Given the description of an element on the screen output the (x, y) to click on. 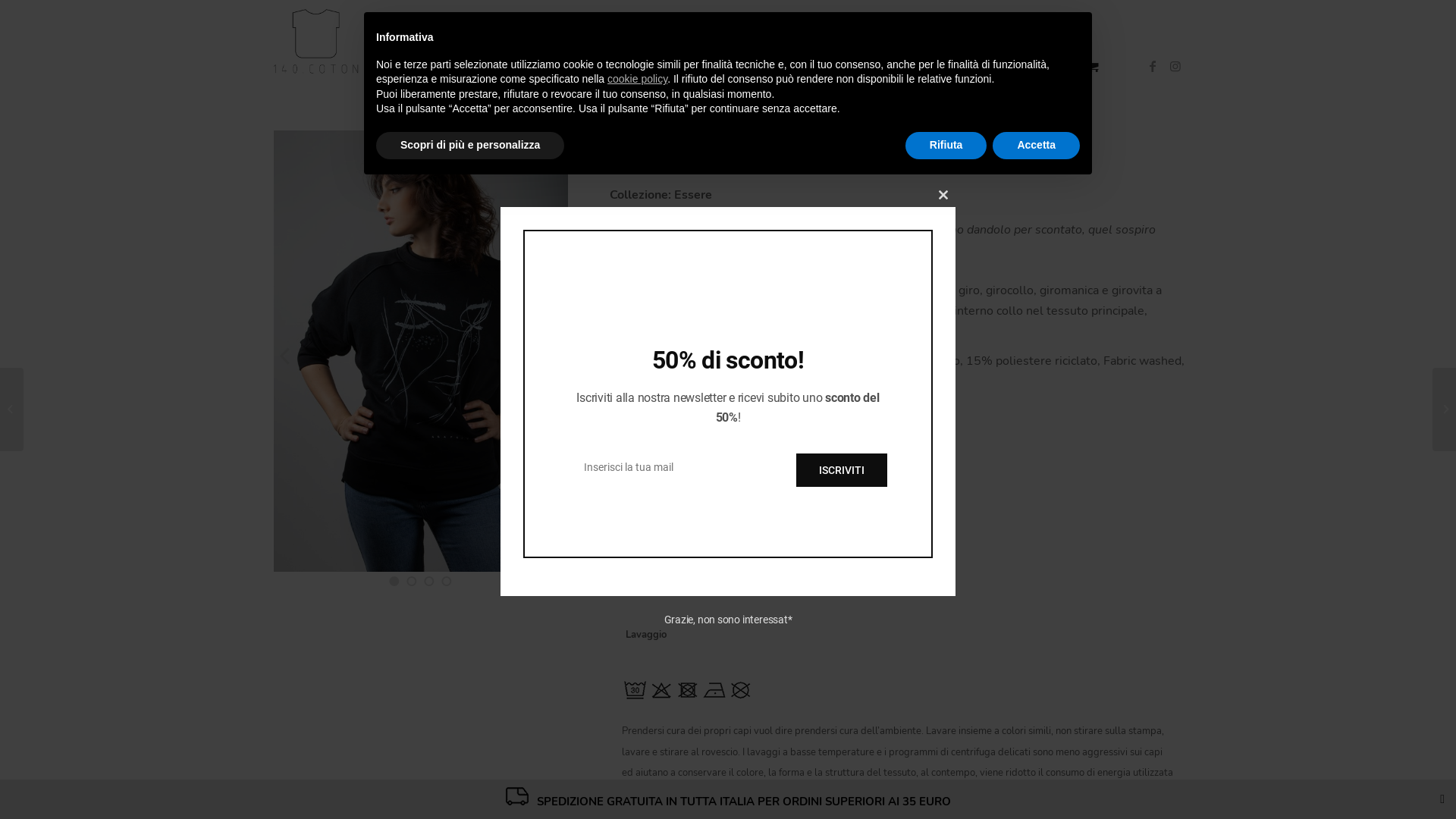
IT Element type: text (1023, 41)
Guida alle taglie Element type: text (654, 441)
Aggiungi al carrello Element type: text (778, 534)
Facebook Element type: hover (1152, 65)
contact Element type: text (806, 41)
graphite Element type: text (925, 41)
Lavaggio Element type: text (645, 634)
diario Element type: text (864, 41)
Close this module Element type: text (943, 194)
login Element type: text (983, 41)
collezioni Element type: text (667, 41)
about us Element type: text (740, 41)
Next Element type: text (556, 355)
Grazie, non sono interessat* Element type: text (728, 619)
Instagram Element type: hover (1175, 65)
cookie policy Element type: text (637, 78)
Rifiuta Element type: text (946, 145)
Previous Element type: text (284, 355)
ISCRIVITI Element type: text (841, 469)
Accetta Element type: text (1035, 145)
1EDF7764 Element type: hover (420, 350)
